Given the description of an element on the screen output the (x, y) to click on. 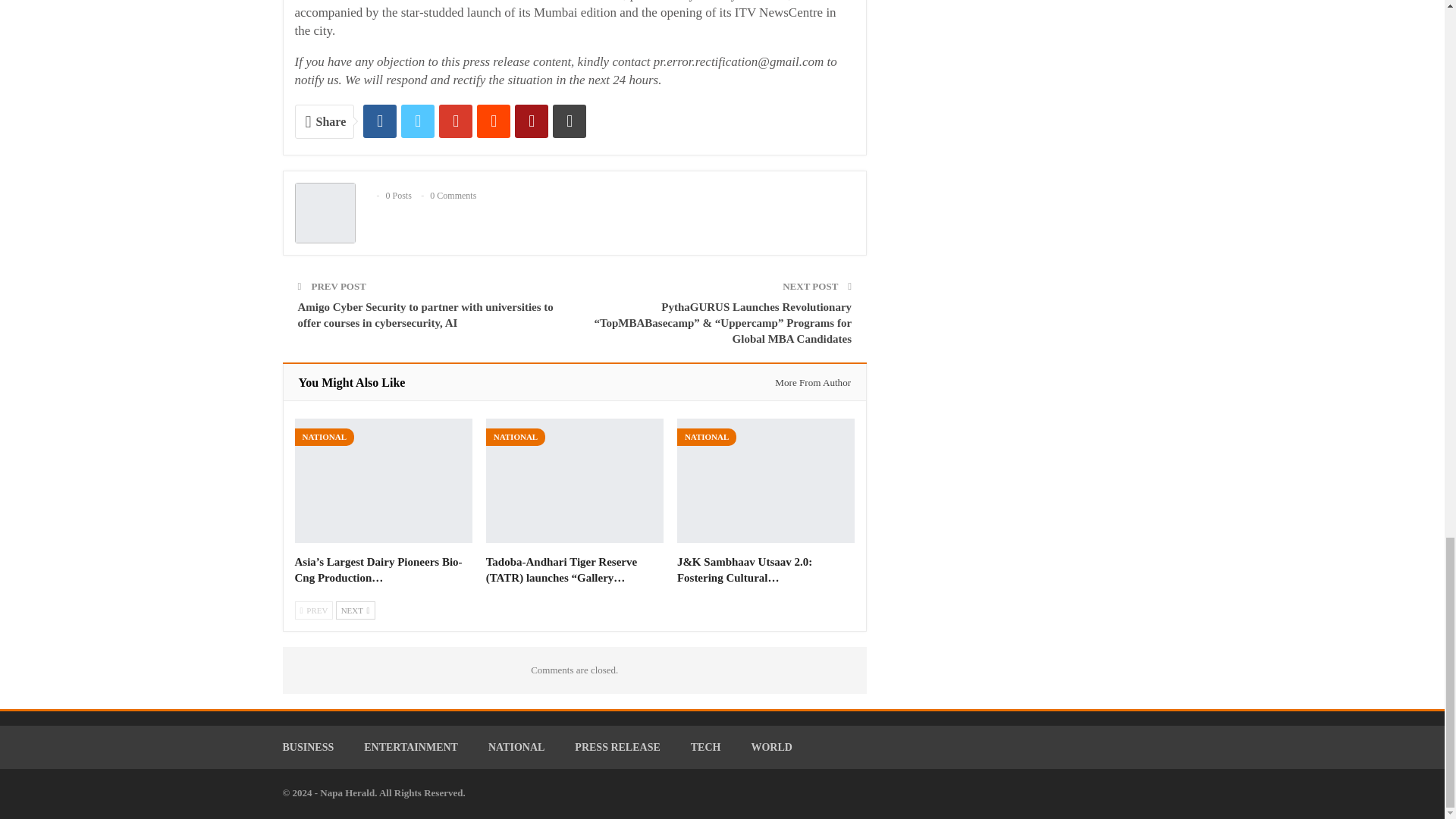
You Might Also Like (352, 382)
NATIONAL (323, 436)
More From Author (807, 382)
